Given the description of an element on the screen output the (x, y) to click on. 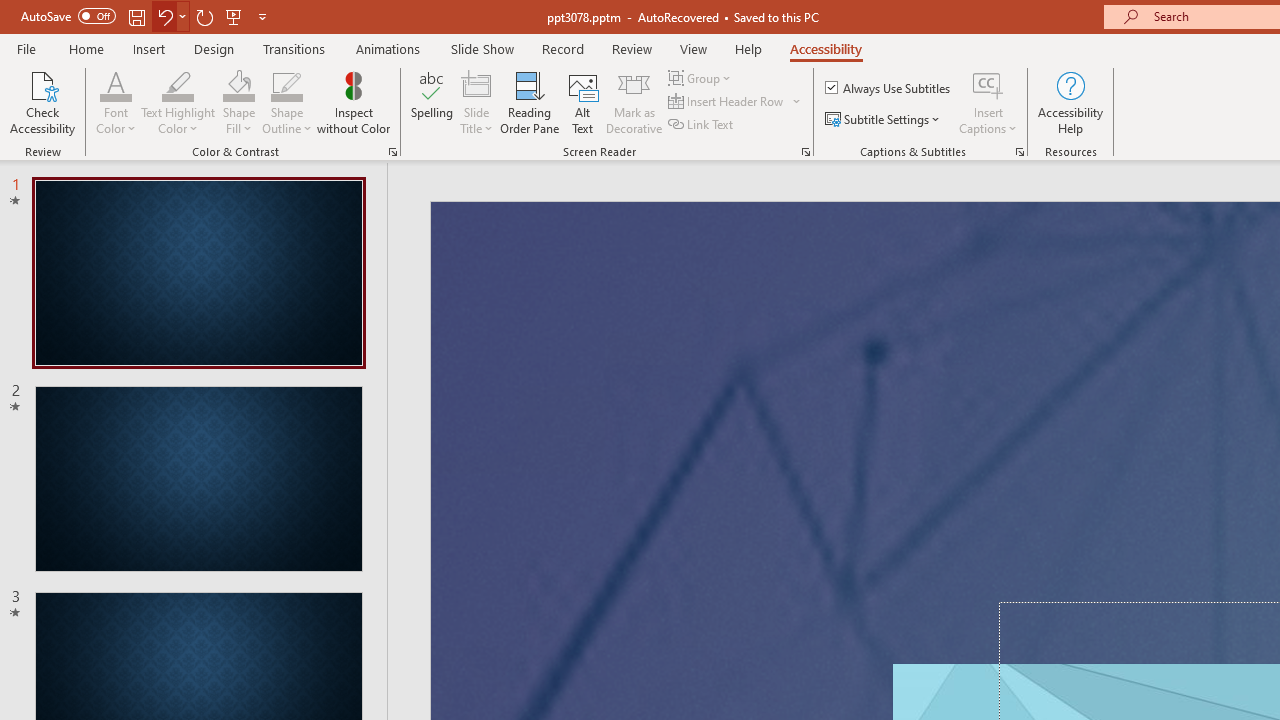
Color & Contrast (392, 151)
Captions & Subtitles (1019, 151)
Accessibility Help (1070, 102)
Subtitle Settings (884, 119)
